Given the description of an element on the screen output the (x, y) to click on. 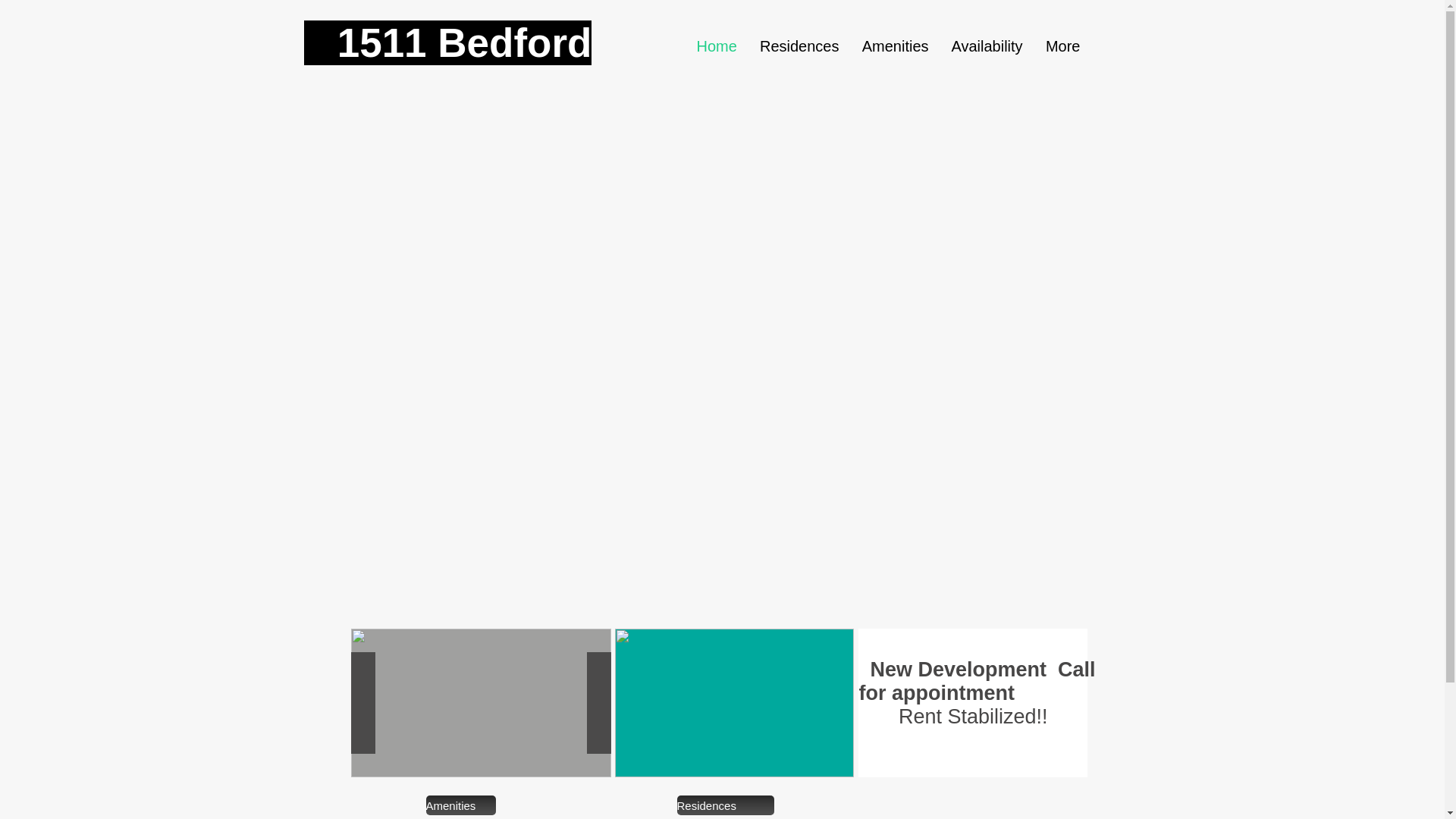
Amenities Element type: text (460, 805)
Residences Element type: text (798, 45)
Availability Element type: text (987, 45)
Home Element type: text (716, 45)
Amenities Element type: text (895, 45)
Residences Element type: text (724, 805)
